Given the description of an element on the screen output the (x, y) to click on. 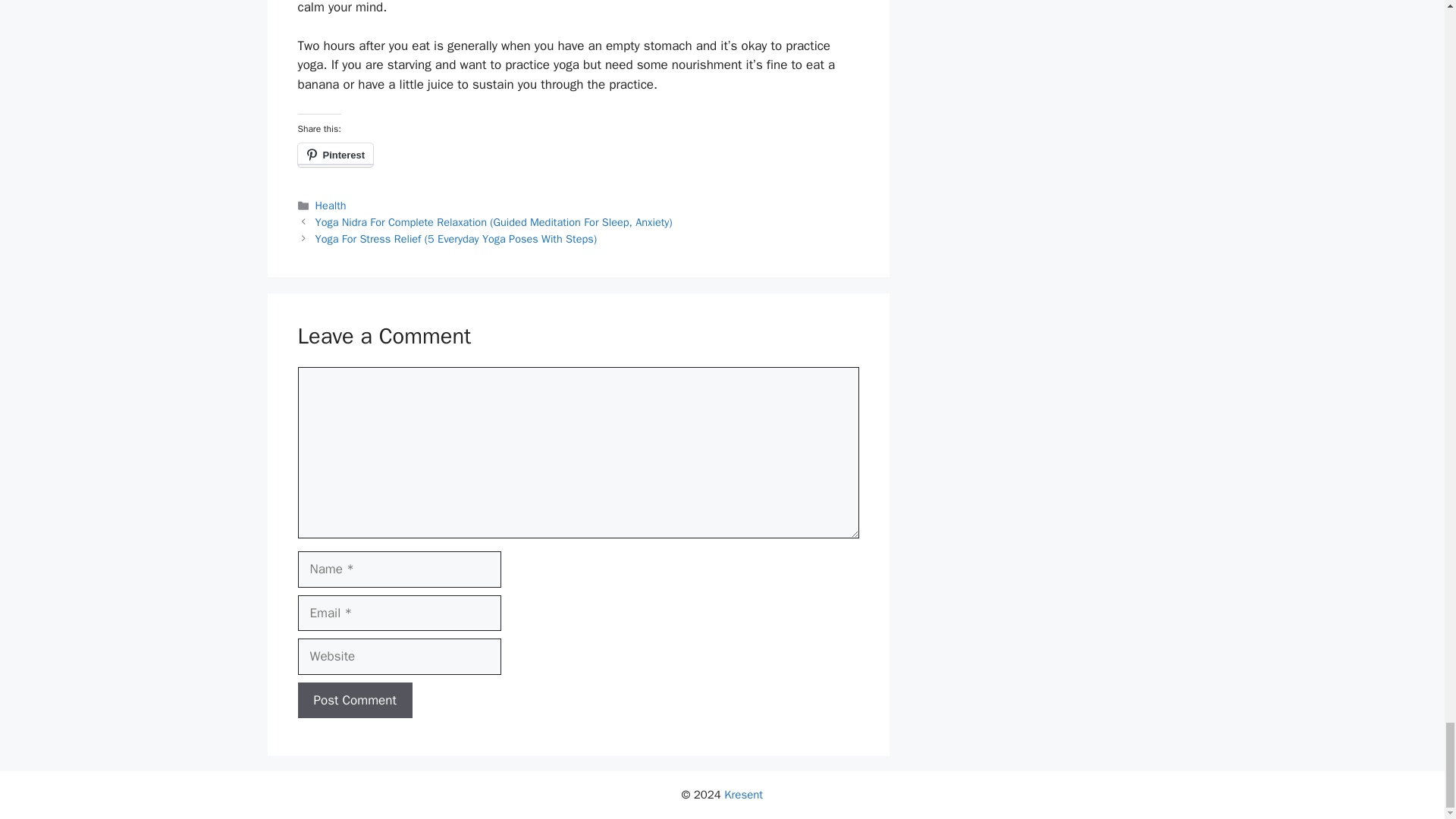
Post Comment (354, 700)
